Given the description of an element on the screen output the (x, y) to click on. 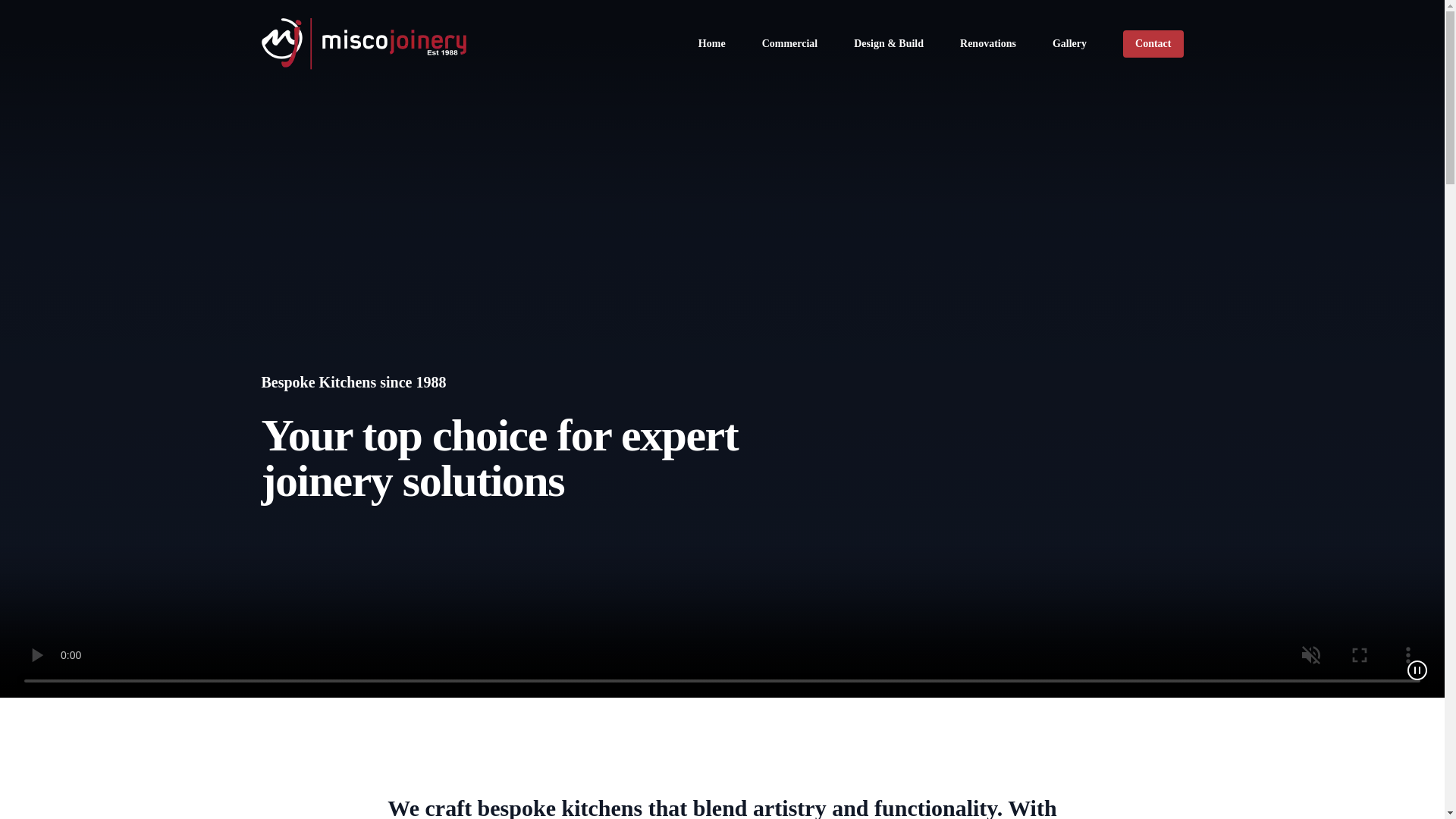
Home (711, 44)
Contact (1152, 43)
Gallery (1069, 44)
Misco Joinery (363, 43)
Renovations (987, 44)
Commercial (789, 44)
